Given the description of an element on the screen output the (x, y) to click on. 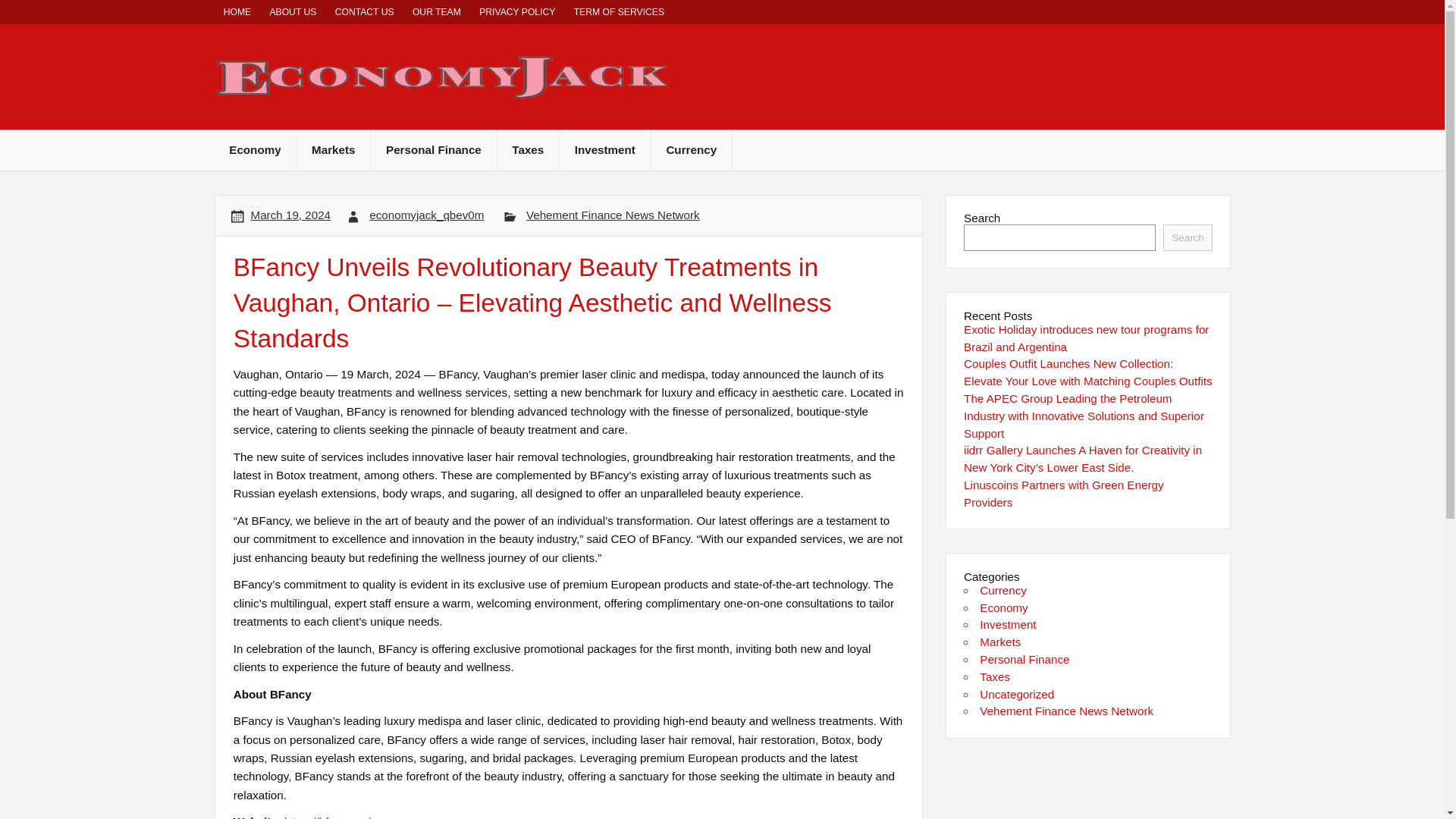
Investment (604, 150)
Investment (1007, 624)
Economy (254, 150)
Vehement Finance News Network (612, 214)
Linuscoins Partners with Green Energy Providers (1063, 493)
PRIVACY POLICY (517, 12)
Markets (333, 150)
Taxes (528, 150)
Taxes (994, 676)
March 19, 2024 (290, 214)
Currency (1002, 590)
Personal Finance (433, 150)
Vehement Finance News Network (1066, 710)
